Given the description of an element on the screen output the (x, y) to click on. 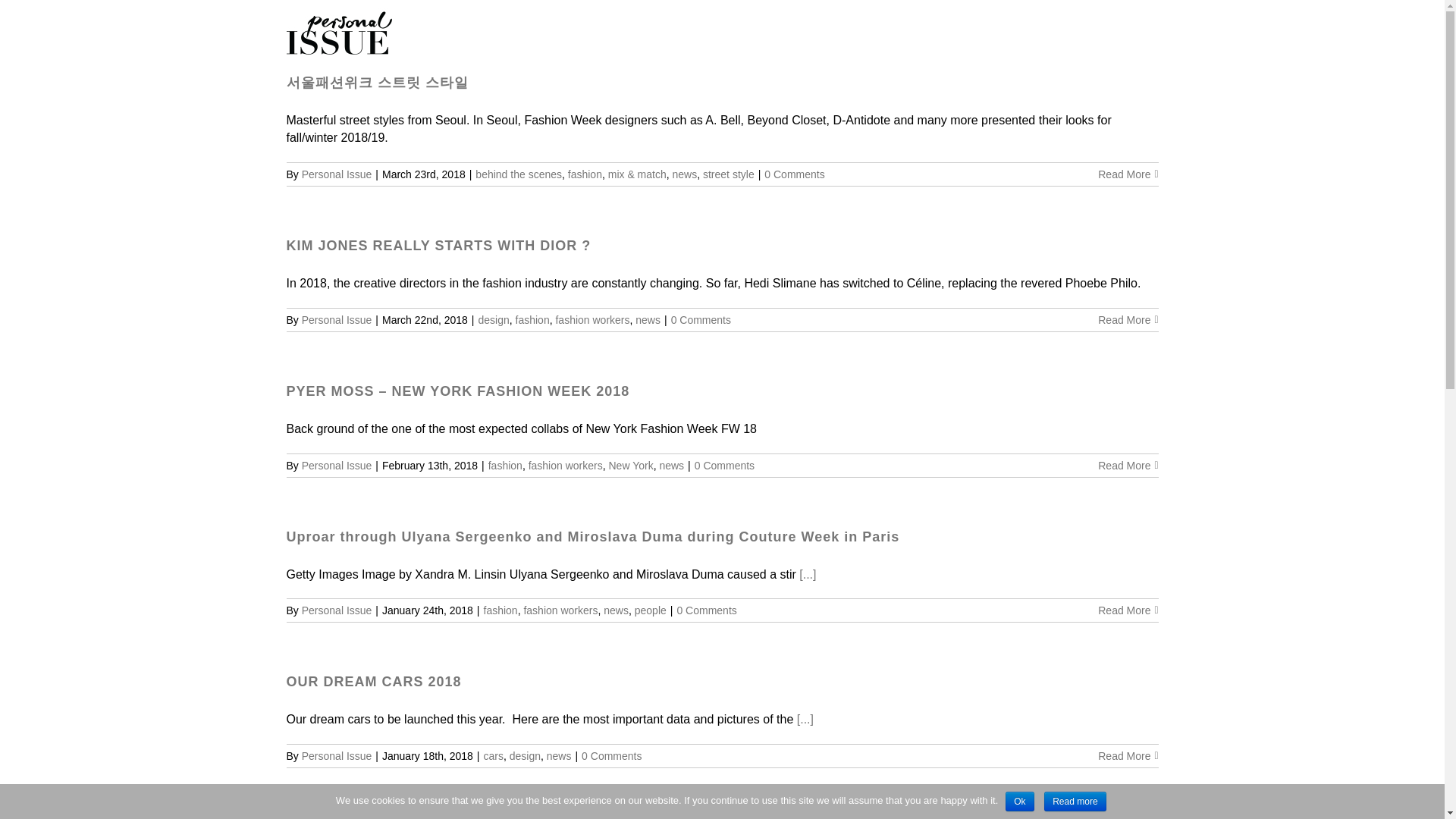
OUR DREAM CARS 2018 (373, 681)
fashion (532, 319)
people (650, 610)
Posts by Personal Issue (336, 319)
fashion (500, 610)
Read More (1123, 610)
KIM JONES REALLY STARTS WITH DIOR ? (438, 245)
Posts by Personal Issue (336, 756)
design (492, 319)
street style (728, 174)
behind the scenes (519, 174)
Personal Issue (336, 610)
Read More (1123, 174)
0 Comments (700, 319)
fashion workers (565, 465)
